Given the description of an element on the screen output the (x, y) to click on. 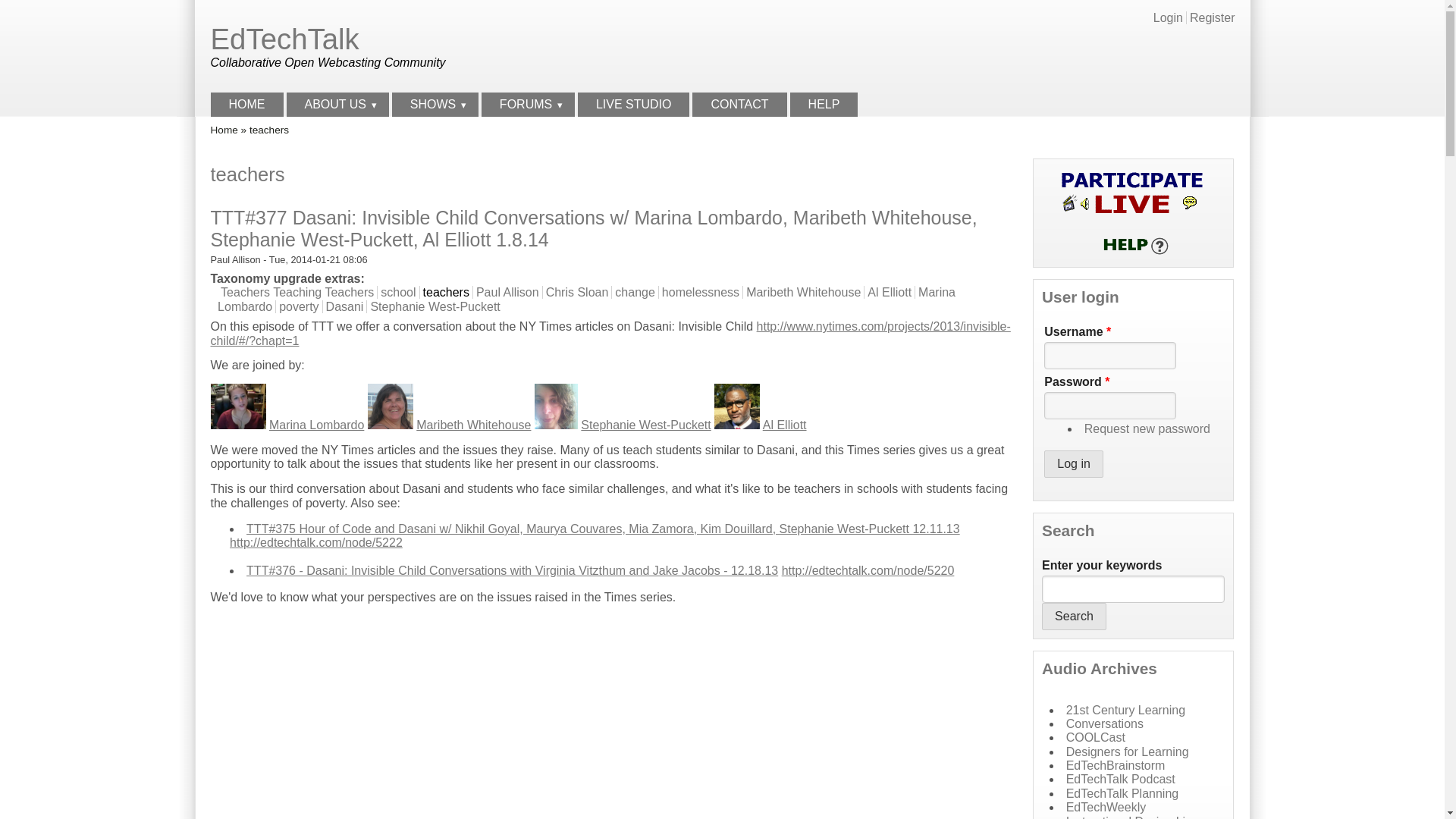
Login (1167, 17)
Home (224, 129)
Advertisement (1059, 47)
Register (1211, 17)
HOME (247, 104)
EdTechTalk (285, 38)
Log in (1073, 463)
CONTACT (739, 104)
HELP (824, 104)
LIVE STUDIO (634, 104)
ABOUT US (337, 104)
Home (285, 38)
FORUMS (528, 104)
Search (1074, 615)
